Given the description of an element on the screen output the (x, y) to click on. 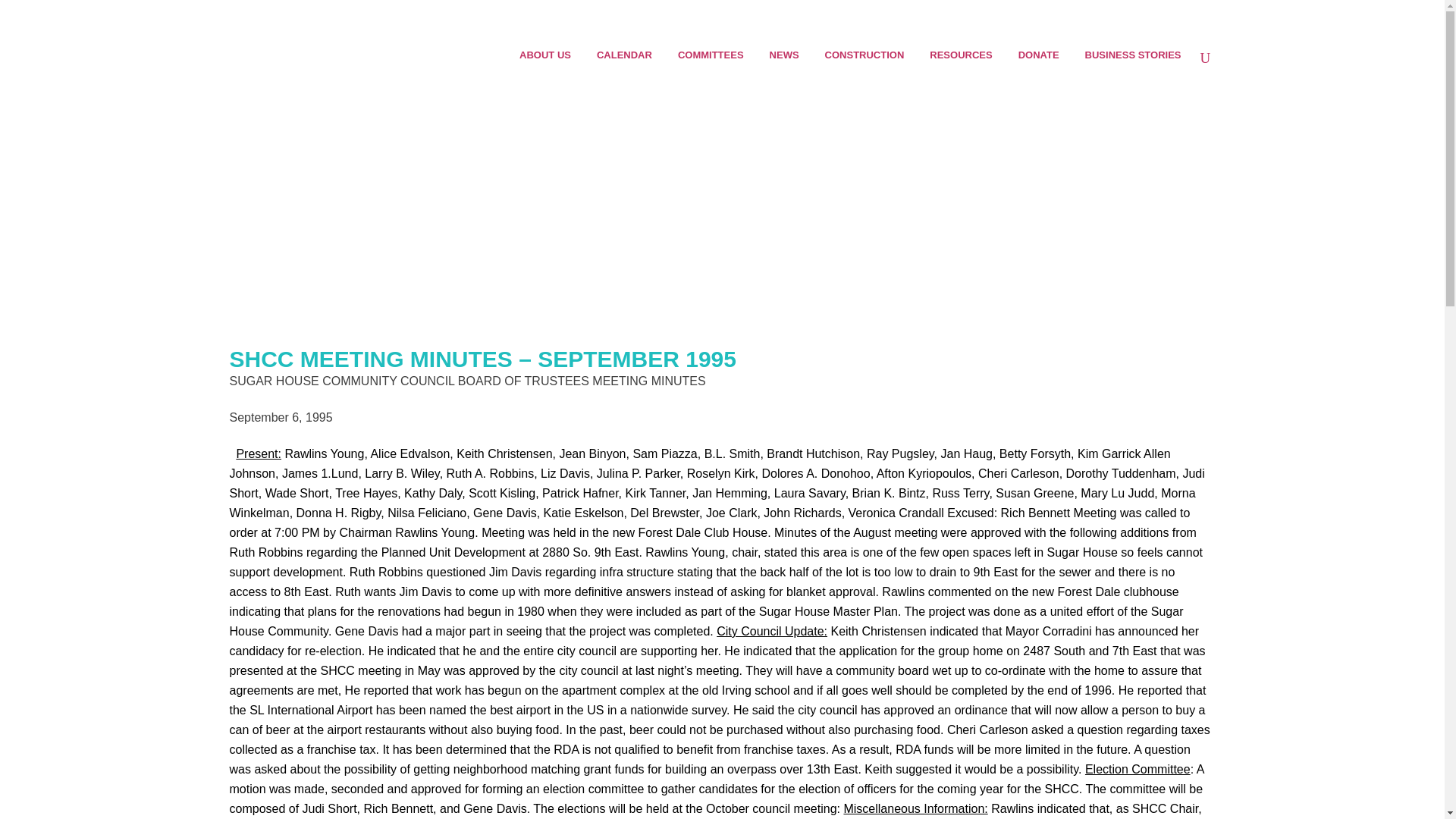
CONSTRUCTION (864, 55)
BUSINESS STORIES (1132, 55)
